Given the description of an element on the screen output the (x, y) to click on. 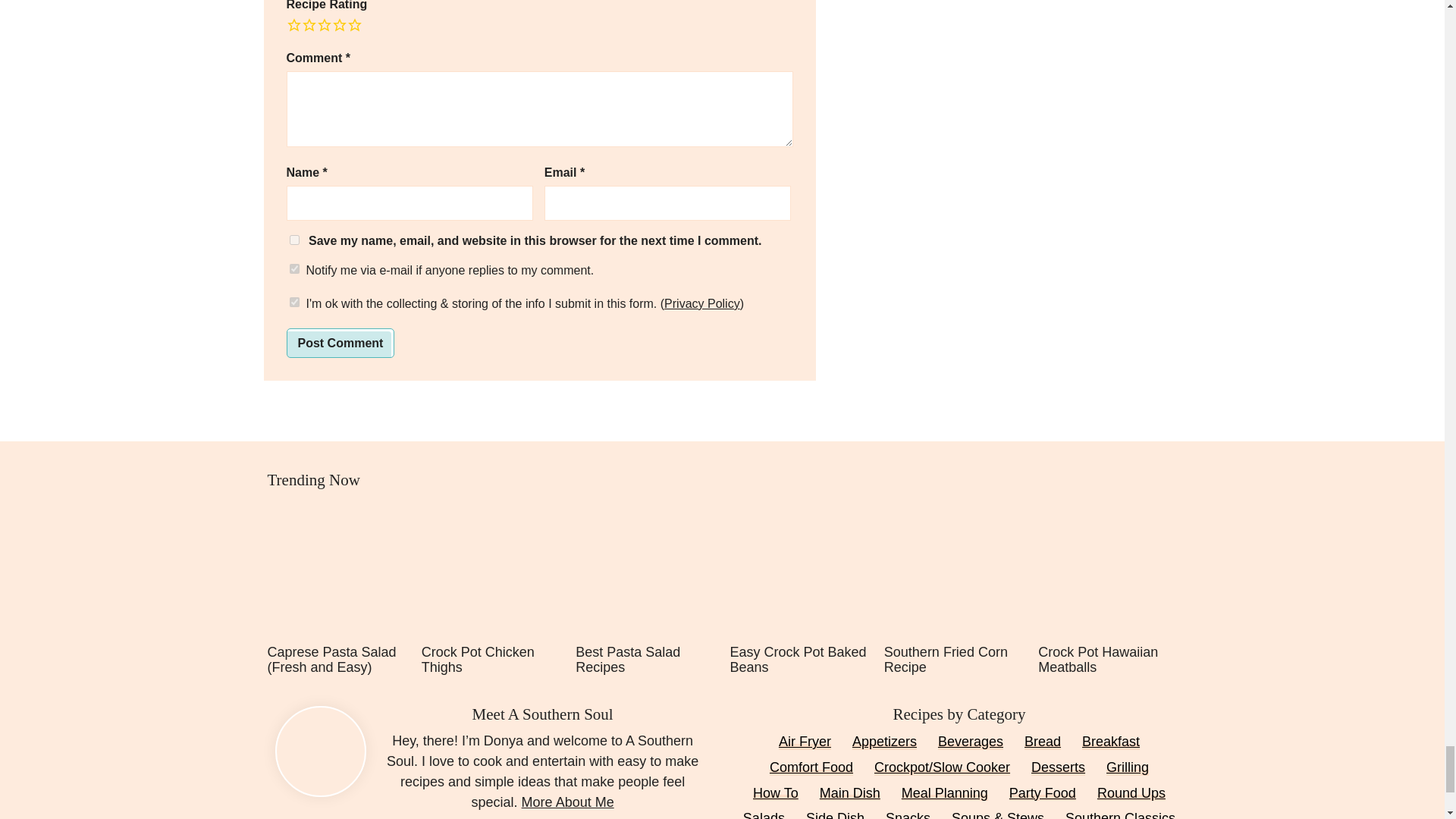
on (294, 268)
Privacy Policy (701, 303)
yes (294, 302)
yes (294, 239)
Post Comment (340, 342)
